Given the description of an element on the screen output the (x, y) to click on. 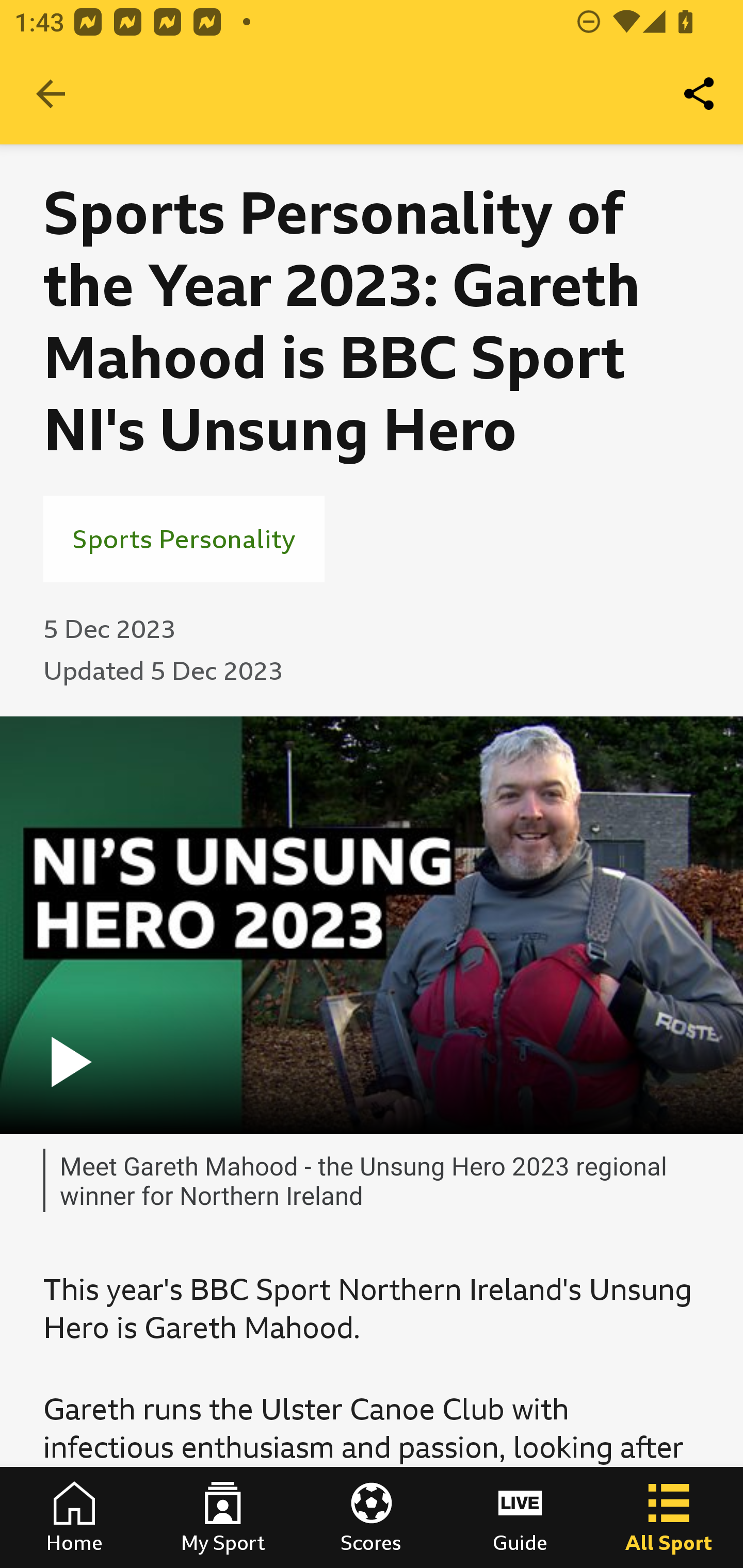
Navigate up (50, 93)
Share (699, 93)
Sports Personality (183, 538)
play fullscreen (371, 924)
Home (74, 1517)
My Sport (222, 1517)
Scores (371, 1517)
Guide (519, 1517)
